Given the description of an element on the screen output the (x, y) to click on. 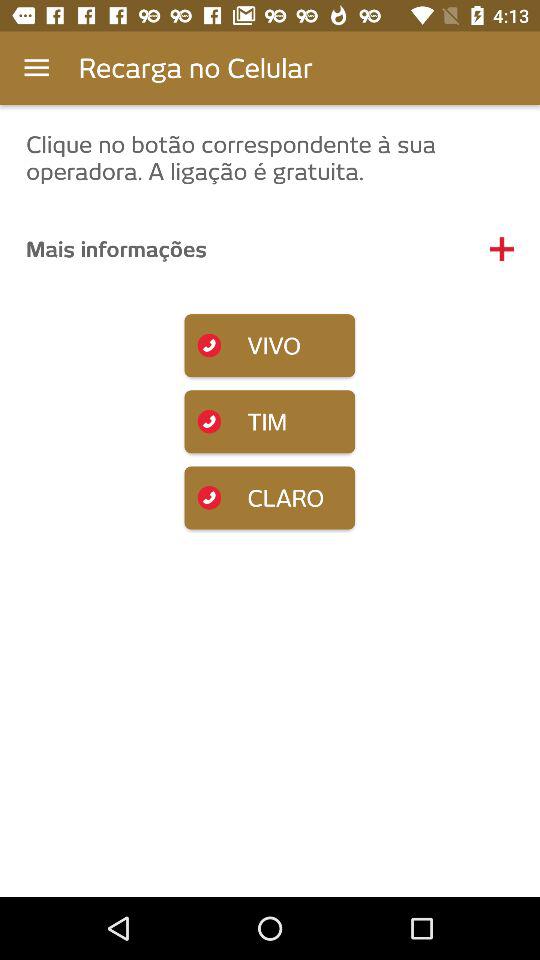
select vivo item (269, 345)
